Given the description of an element on the screen output the (x, y) to click on. 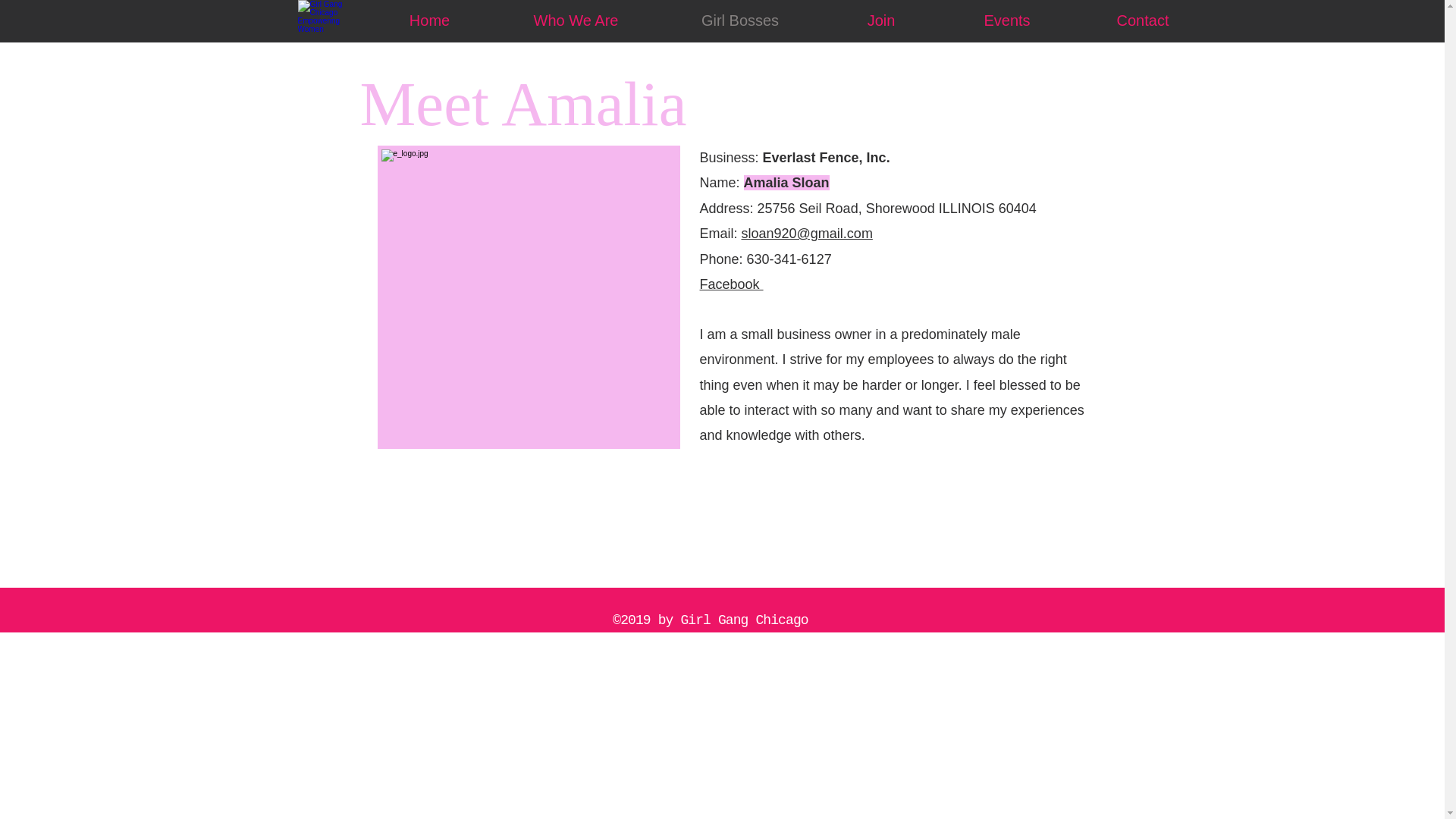
Who We Are (575, 20)
Home (429, 20)
Girl Bosses (739, 20)
